Given the description of an element on the screen output the (x, y) to click on. 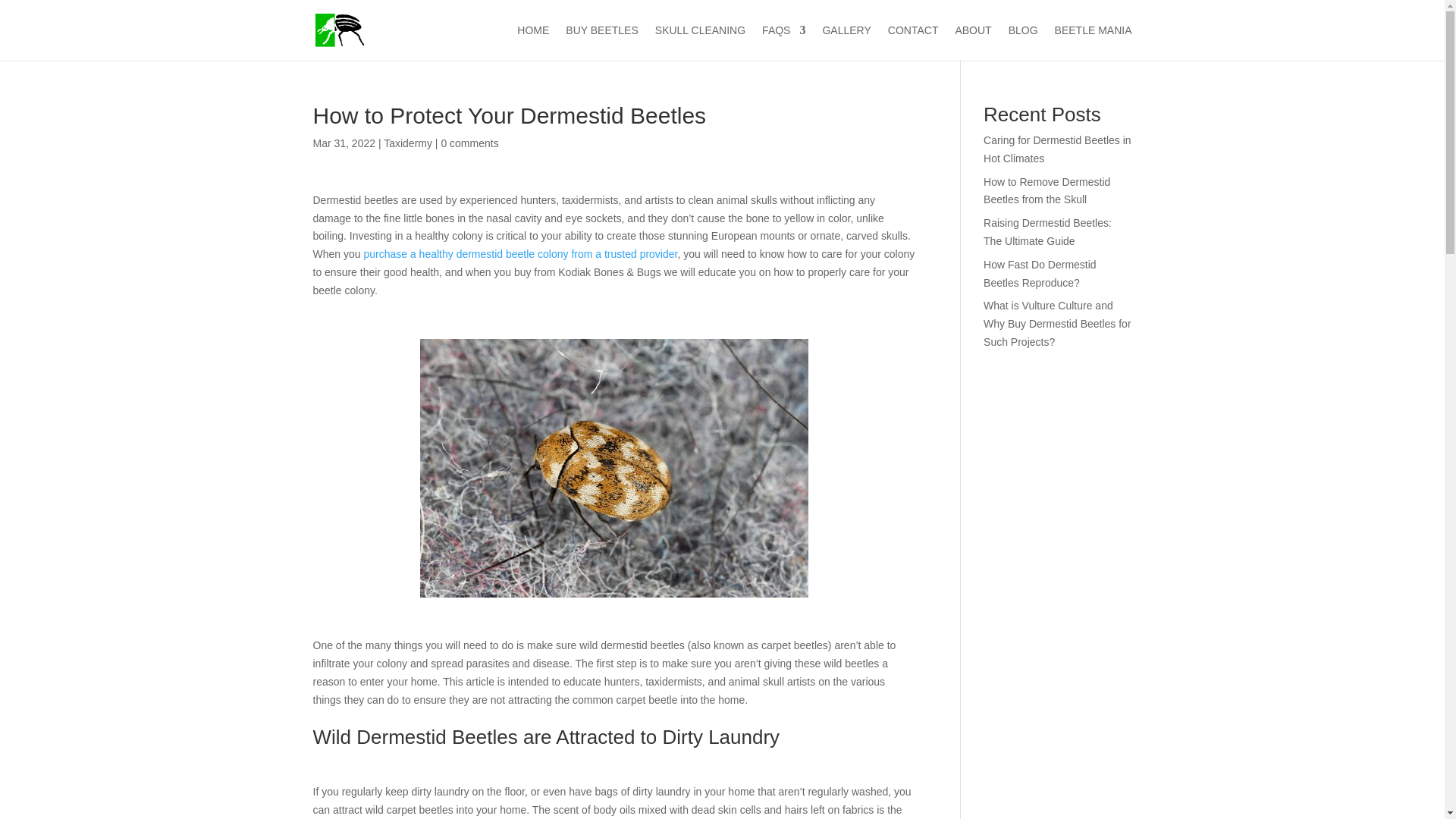
How Fast Do Dermestid Beetles Reproduce? (1040, 273)
0 comments (469, 143)
GALLERY (846, 42)
BEETLE MANIA (1093, 42)
Caring for Dermestid Beetles in Hot Climates (1057, 149)
Taxidermy (408, 143)
BLOG (1023, 42)
CONTACT (913, 42)
ABOUT (973, 42)
FAQS (783, 42)
How to Remove Dermestid Beetles from the Skull (1046, 191)
Raising Dermestid Beetles: The Ultimate Guide (1048, 232)
HOME (532, 42)
